Given the description of an element on the screen output the (x, y) to click on. 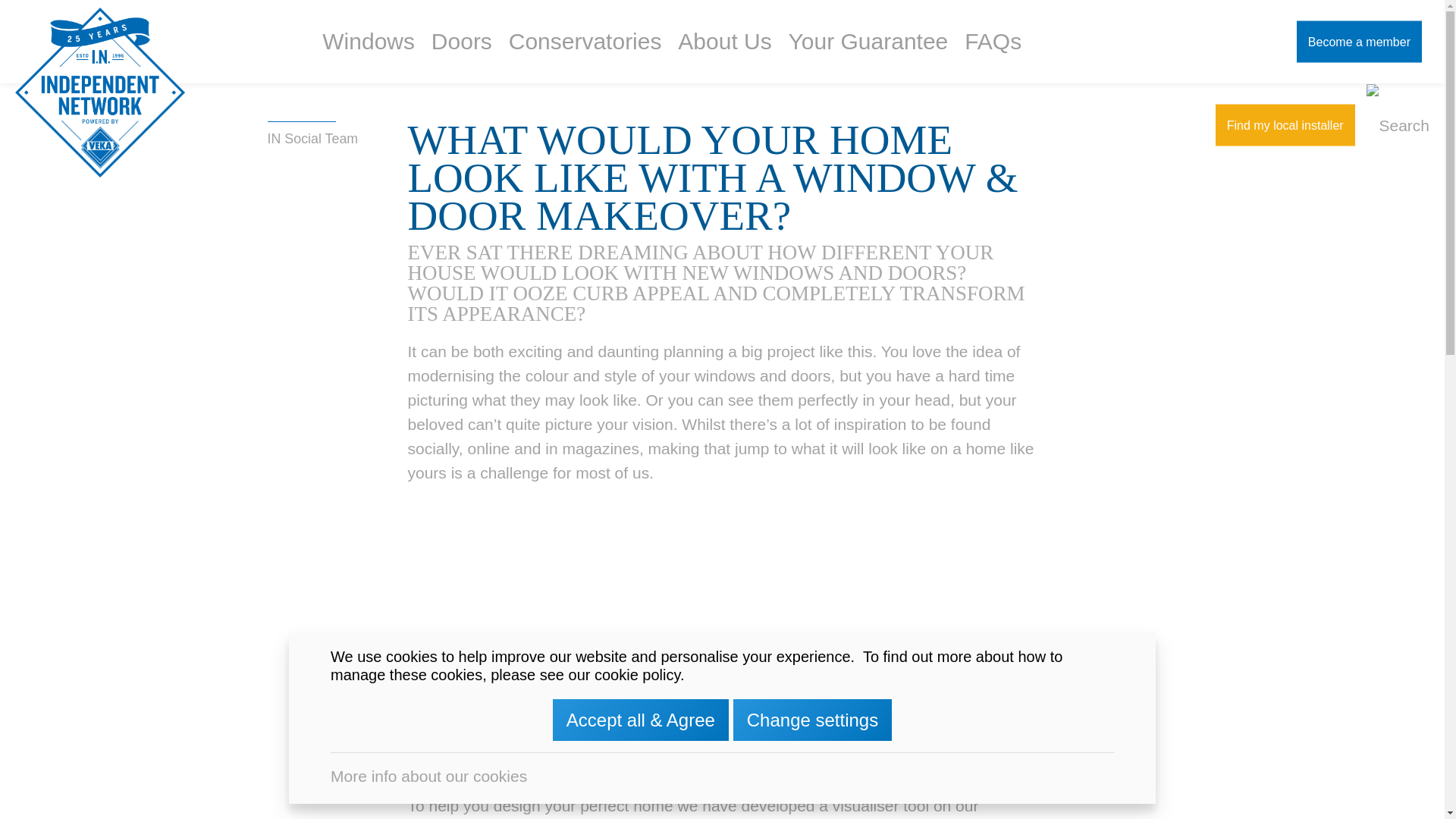
About Us (724, 41)
Become a member (1359, 42)
Find my local installer (1285, 125)
Conservatories (585, 41)
Your Guarantee (869, 41)
Windows (367, 41)
